Given the description of an element on the screen output the (x, y) to click on. 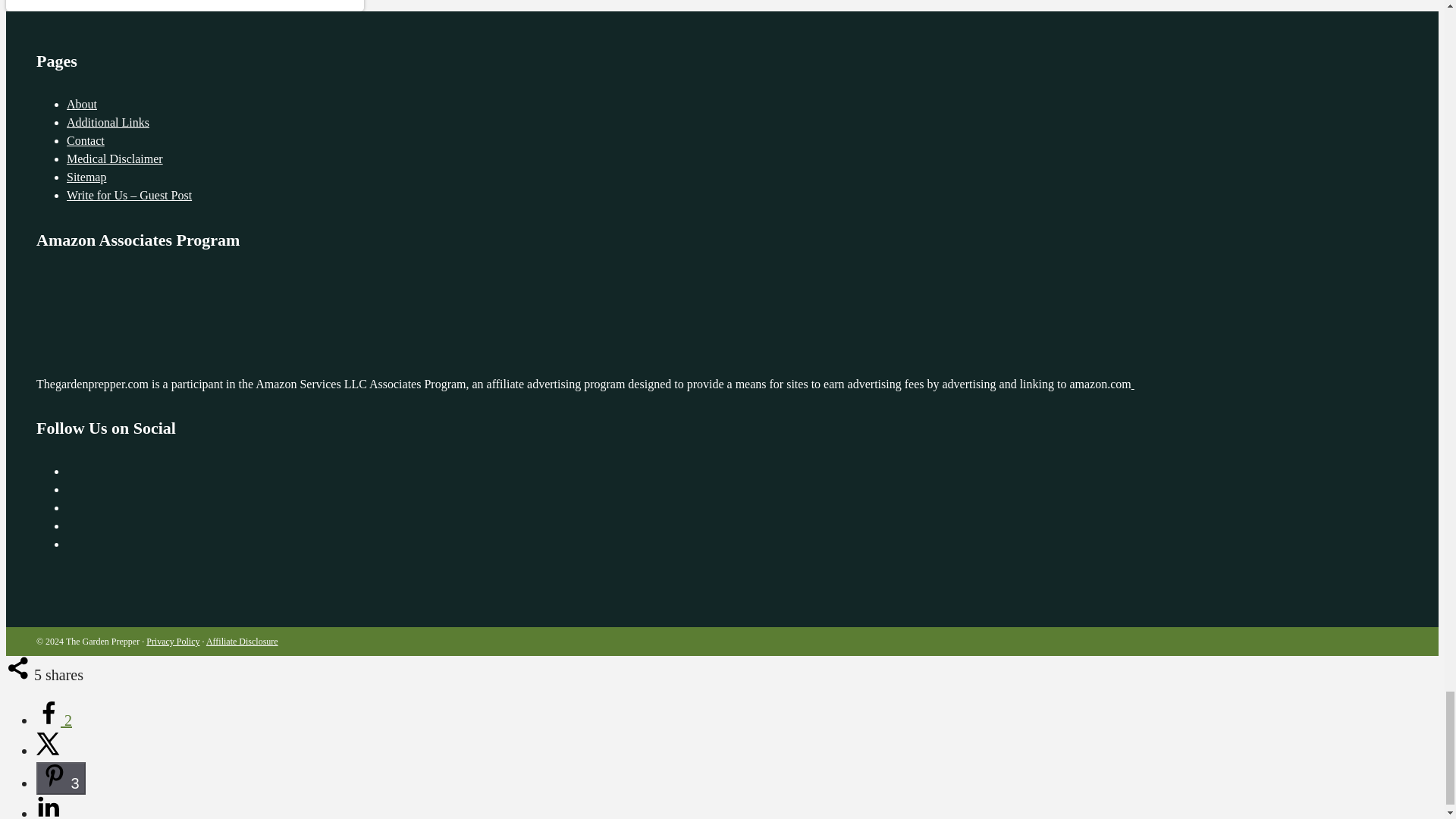
Save to Pinterest (60, 778)
DMCA.com Protection Status (1246, 383)
Share on Facebook (53, 719)
Share on X (48, 750)
